Given the description of an element on the screen output the (x, y) to click on. 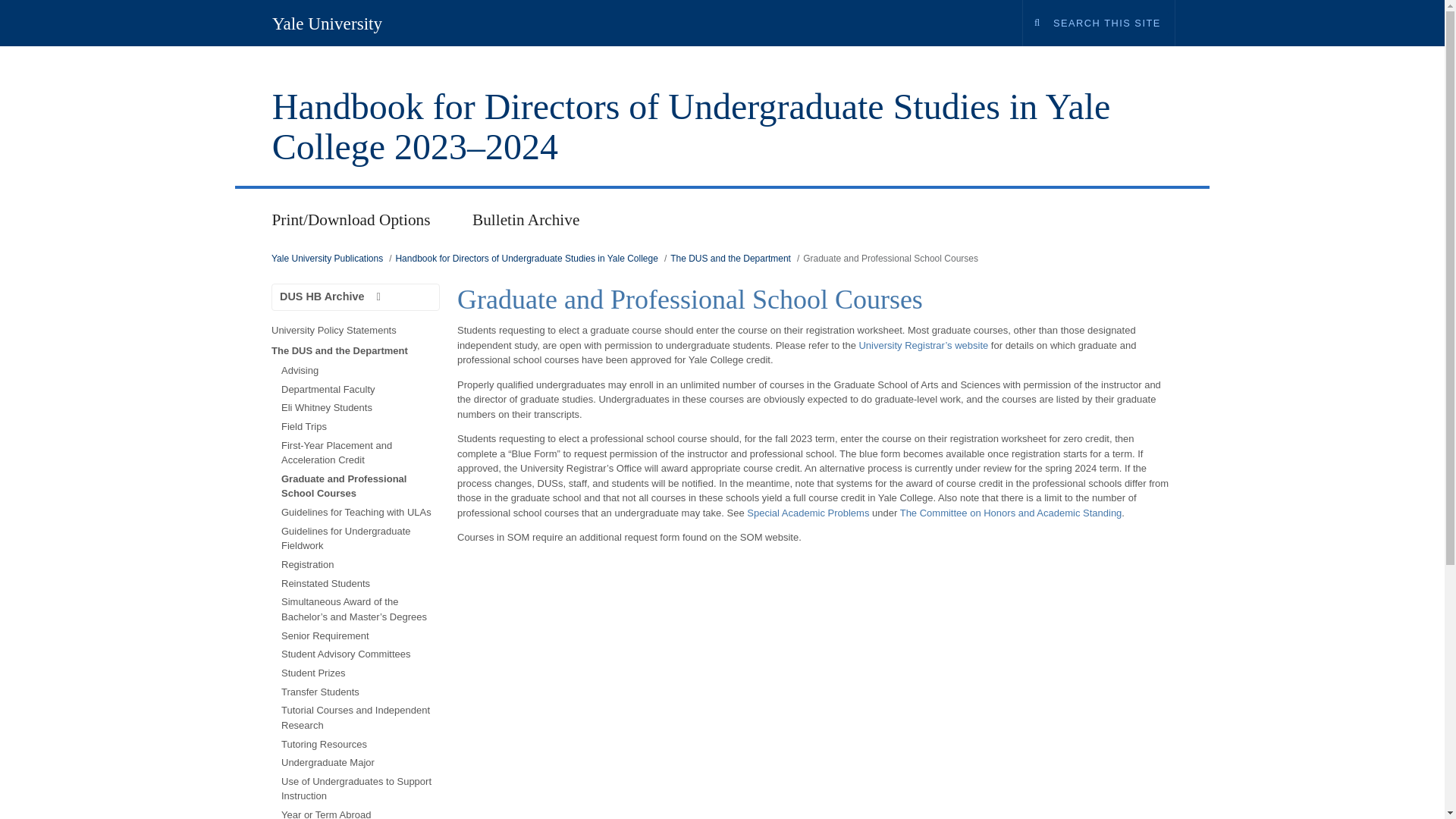
Advising (360, 370)
The DUS and the Department (729, 258)
Registration (360, 564)
Yale University Publications (326, 258)
Eli Whitney Students  (360, 407)
Student Prizes (360, 672)
Undergraduate Major (360, 763)
Tutorial Courses and Independent Research (360, 717)
